Given the description of an element on the screen output the (x, y) to click on. 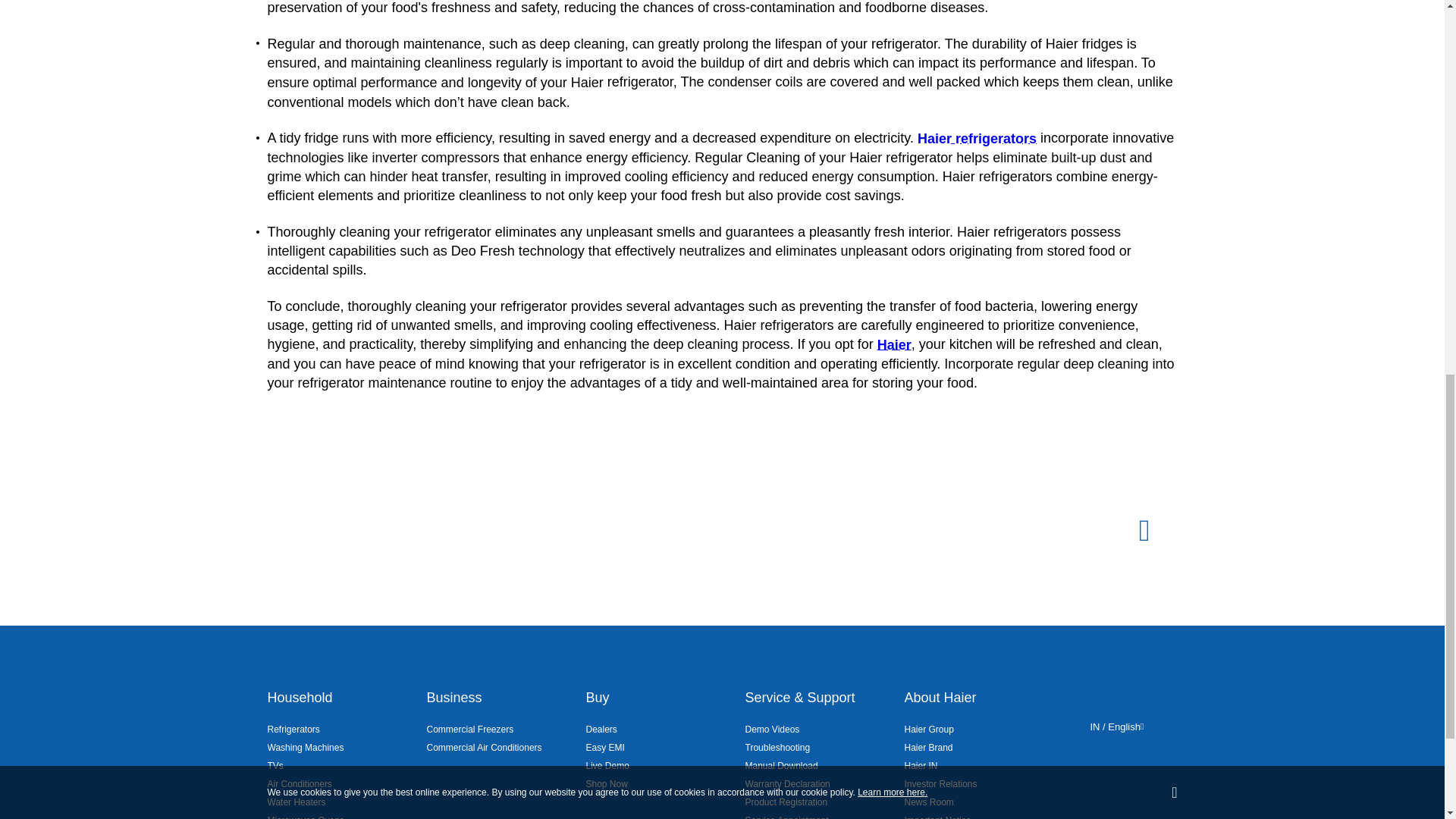
Haier (894, 344)
Haier refrigerators (976, 137)
